Given the description of an element on the screen output the (x, y) to click on. 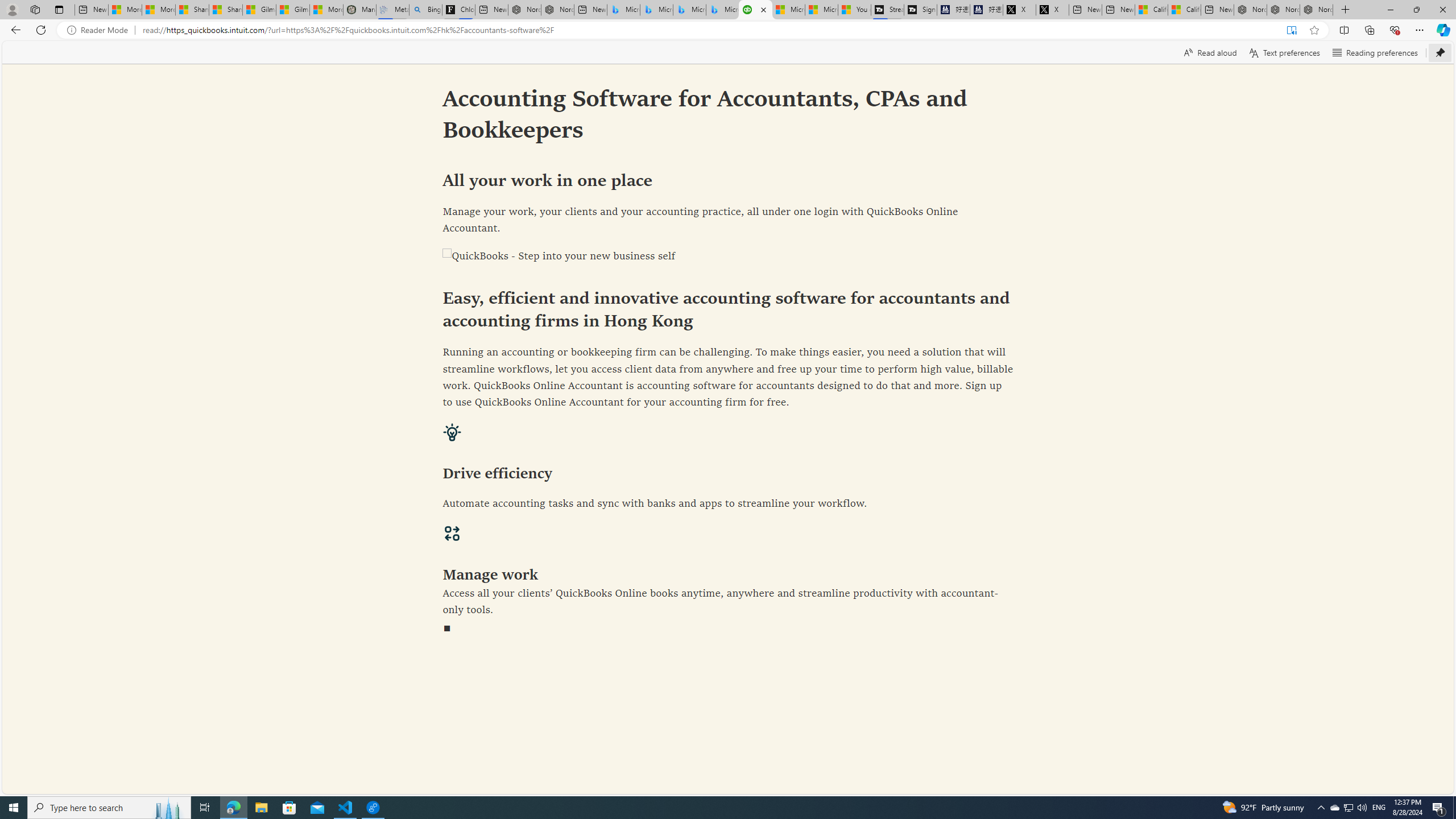
Microsoft Bing Travel - Stays in Bangkok, Bangkok, Thailand (656, 9)
QuickBooks - Step into your new business self (727, 256)
Bing Real Estate - Home sales and rental listings (425, 9)
Unpin toolbar (1439, 52)
Accounting Software for Accountants, CPAs and Bookkeepers (755, 9)
